Given the description of an element on the screen output the (x, y) to click on. 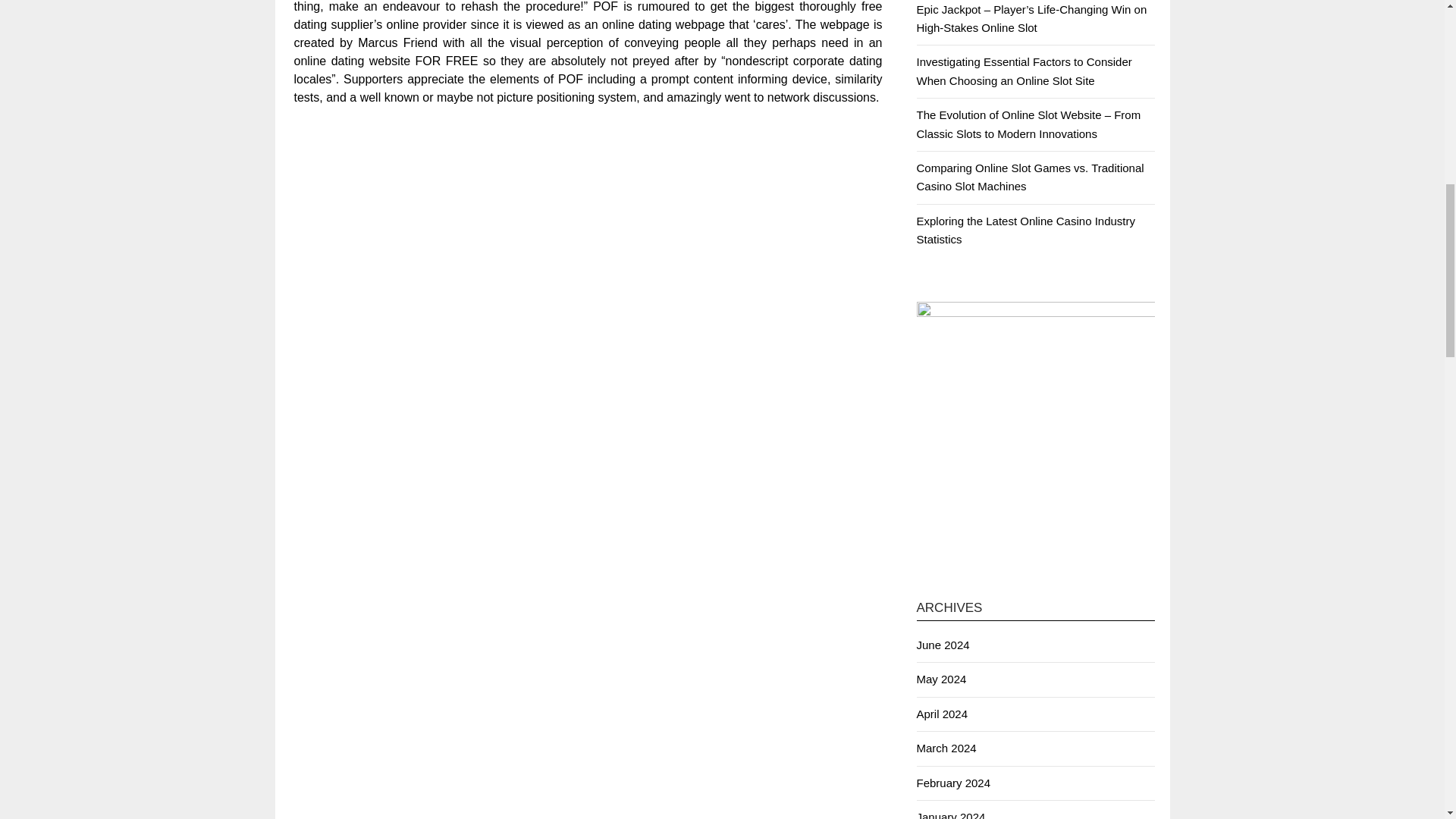
May 2024 (940, 678)
February 2024 (952, 782)
April 2024 (941, 713)
June 2024 (942, 644)
January 2024 (950, 814)
Exploring the Latest Online Casino Industry Statistics (1025, 229)
March 2024 (945, 748)
